Given the description of an element on the screen output the (x, y) to click on. 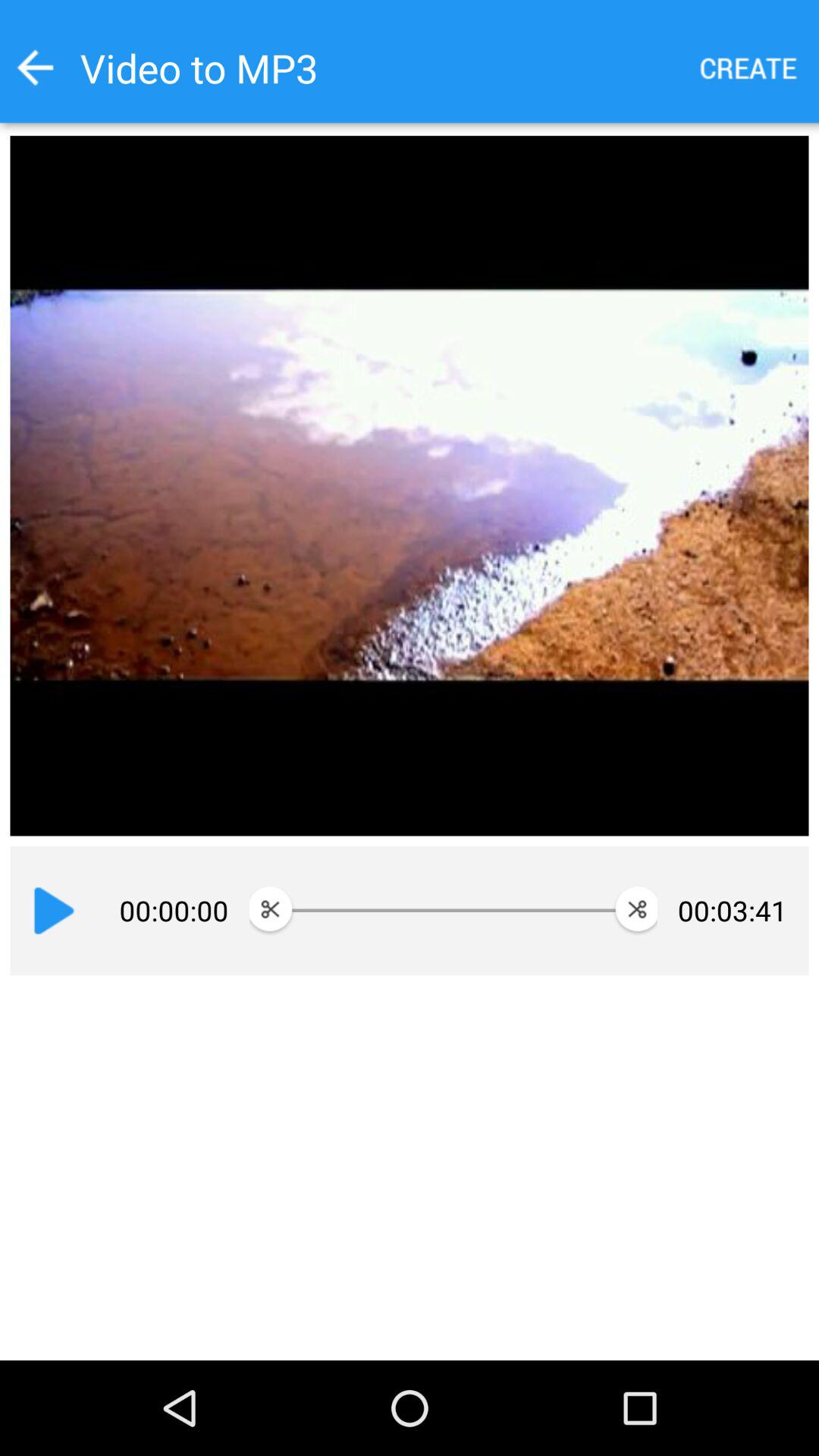
select item to the left of 00:00:00 item (54, 910)
